Given the description of an element on the screen output the (x, y) to click on. 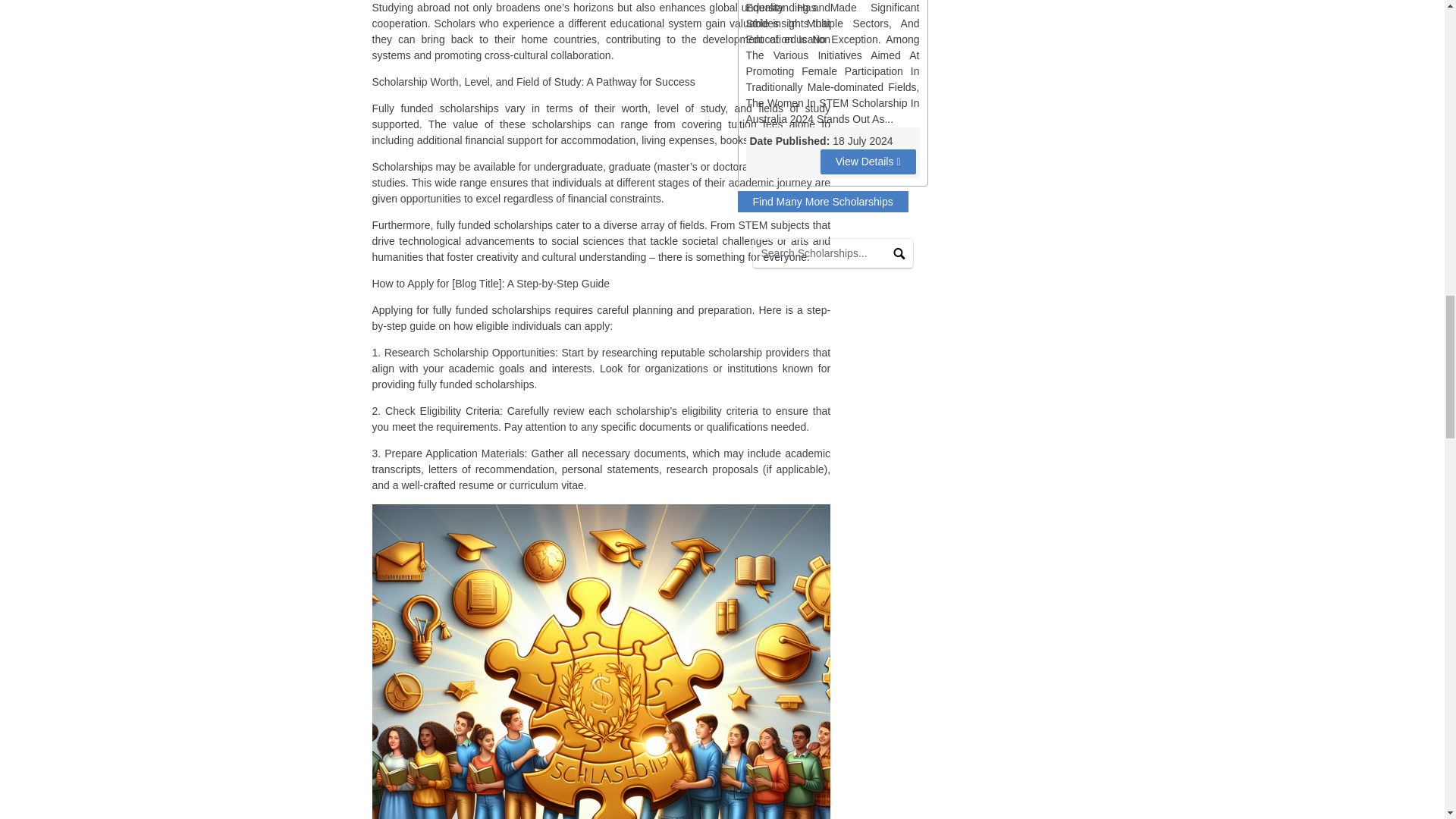
Women in STEM Scholarship Australia 2024 (868, 161)
Search for: (832, 253)
